Given the description of an element on the screen output the (x, y) to click on. 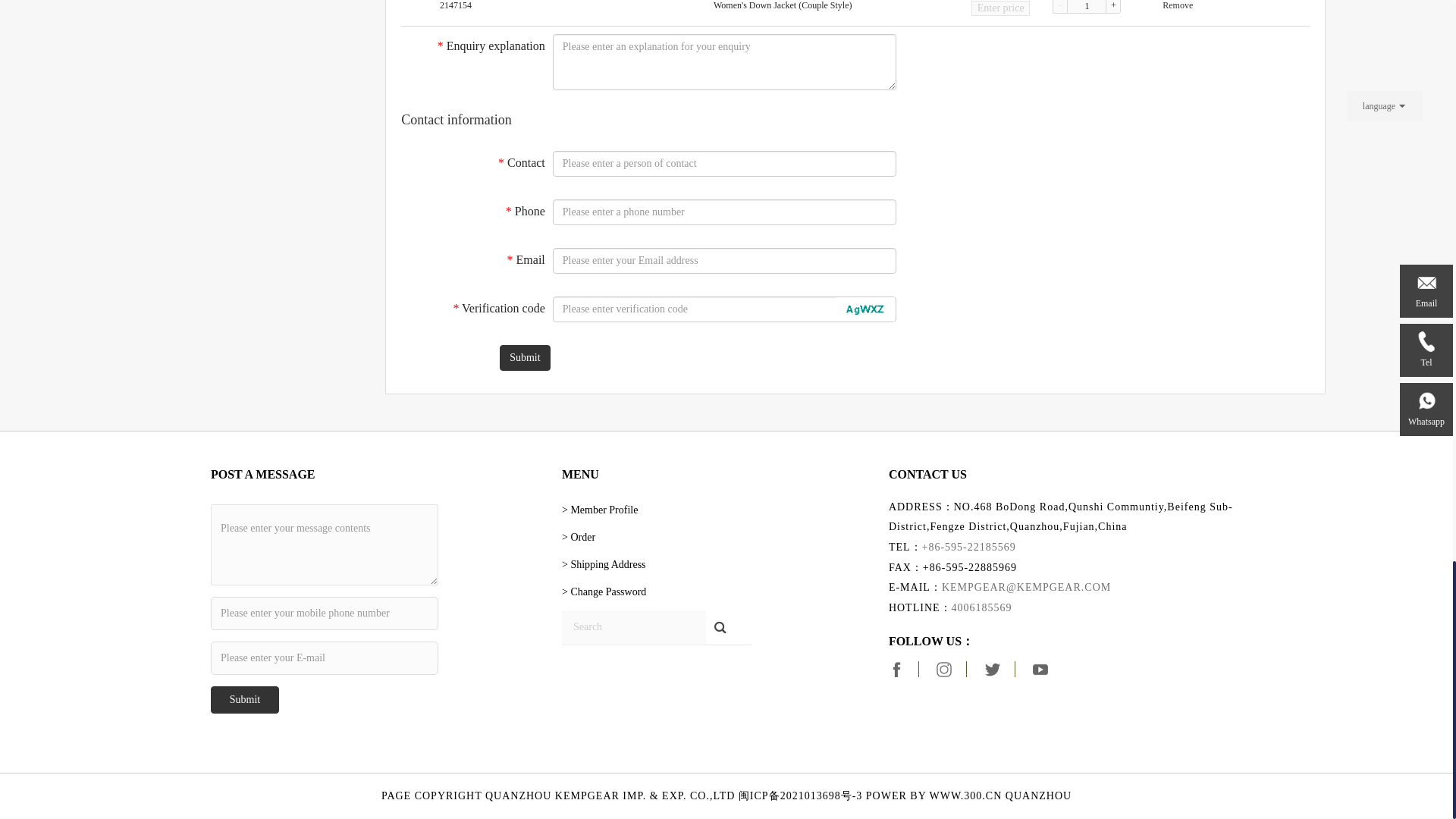
1 (1086, 6)
